Given the description of an element on the screen output the (x, y) to click on. 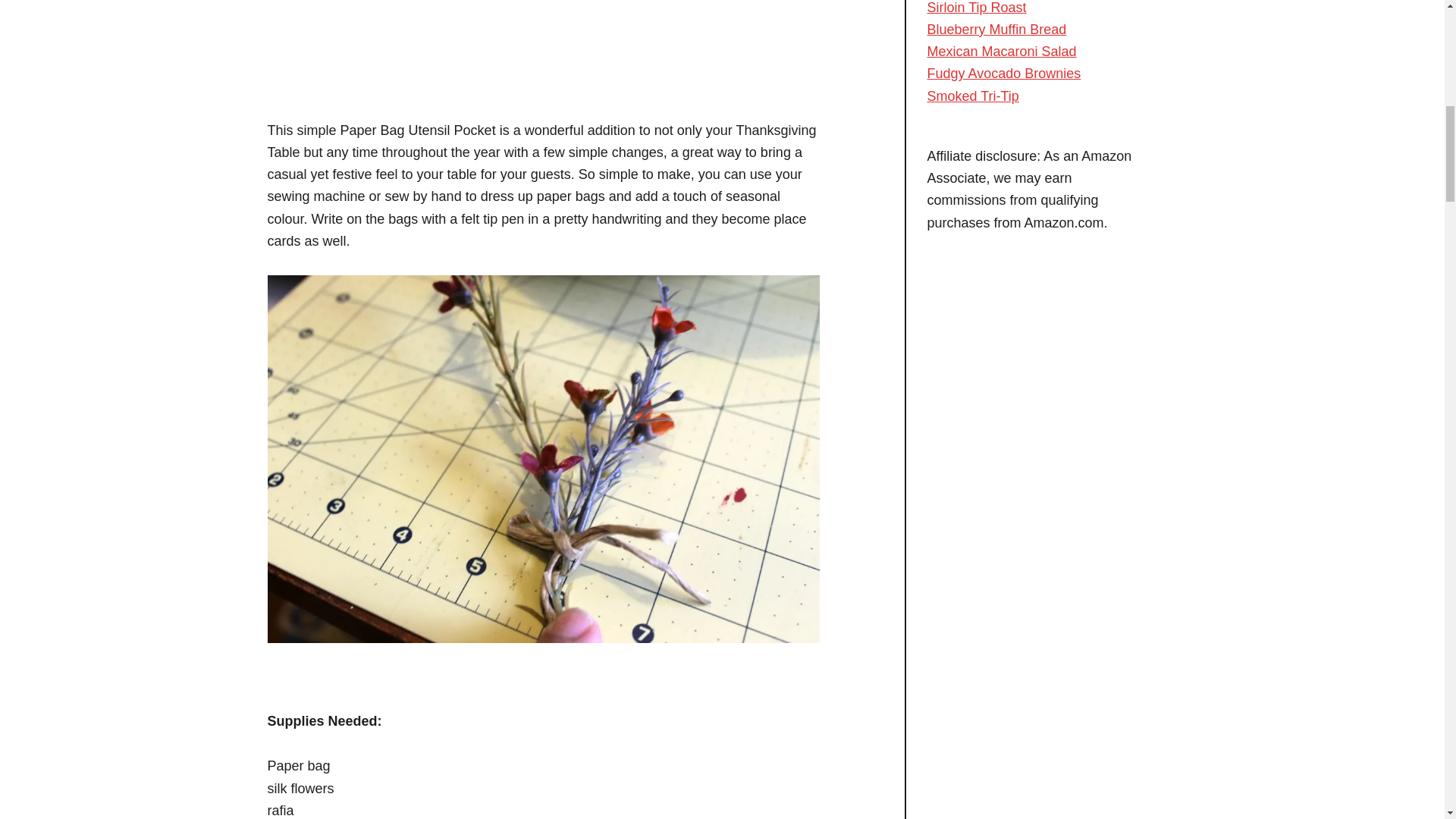
Blueberry Muffin Bread (995, 24)
Sirloin Tip Roast (976, 7)
Paper Bag Utensil Pocket (542, 33)
